Given the description of an element on the screen output the (x, y) to click on. 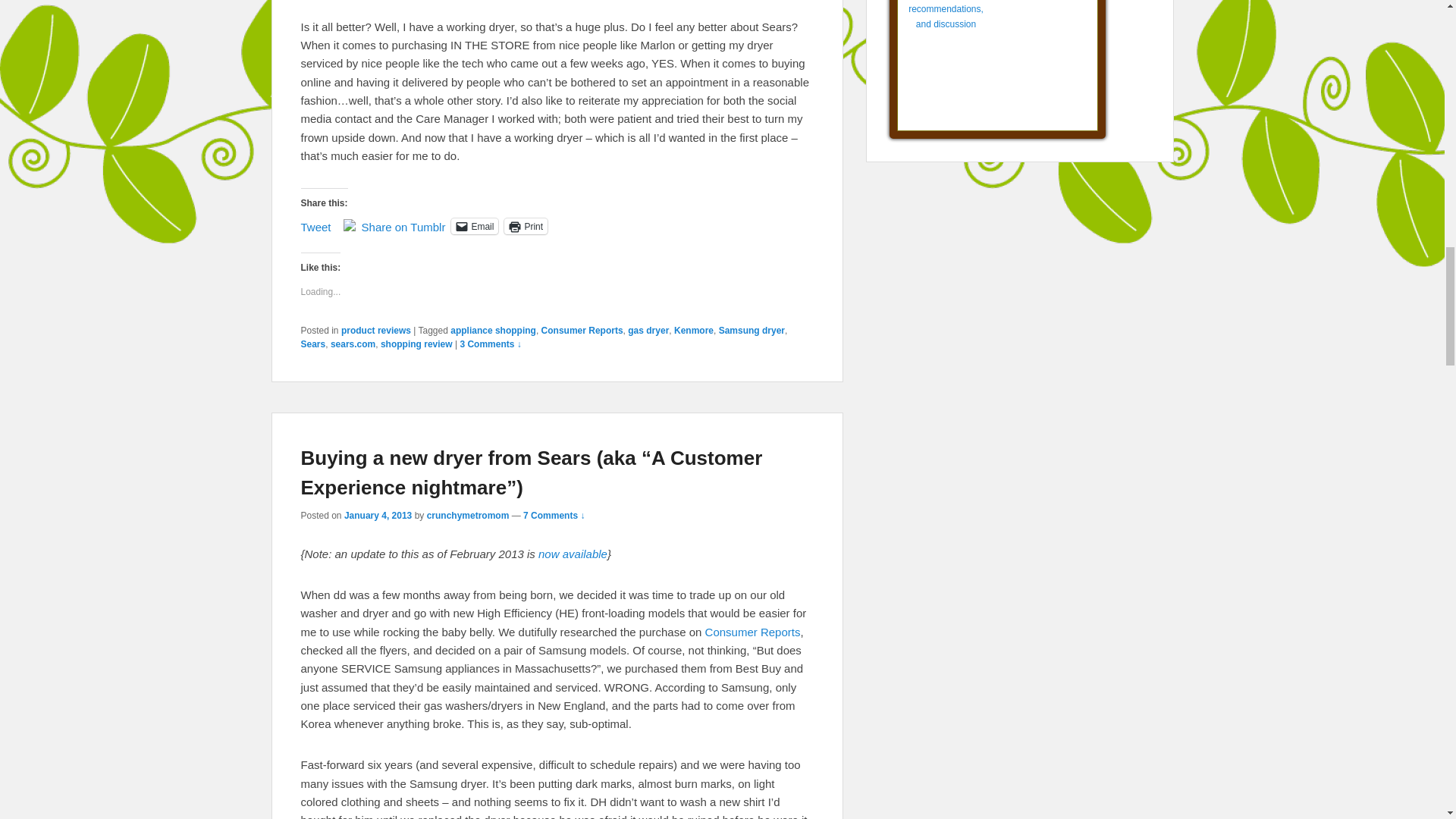
now available (572, 553)
Consumer Reports (752, 631)
Click to print (525, 226)
Share on Tumblr (403, 224)
12:56 pm (377, 515)
Sears (311, 344)
Print (525, 226)
product reviews (375, 330)
sears.com (352, 344)
Email (474, 226)
